Given the description of an element on the screen output the (x, y) to click on. 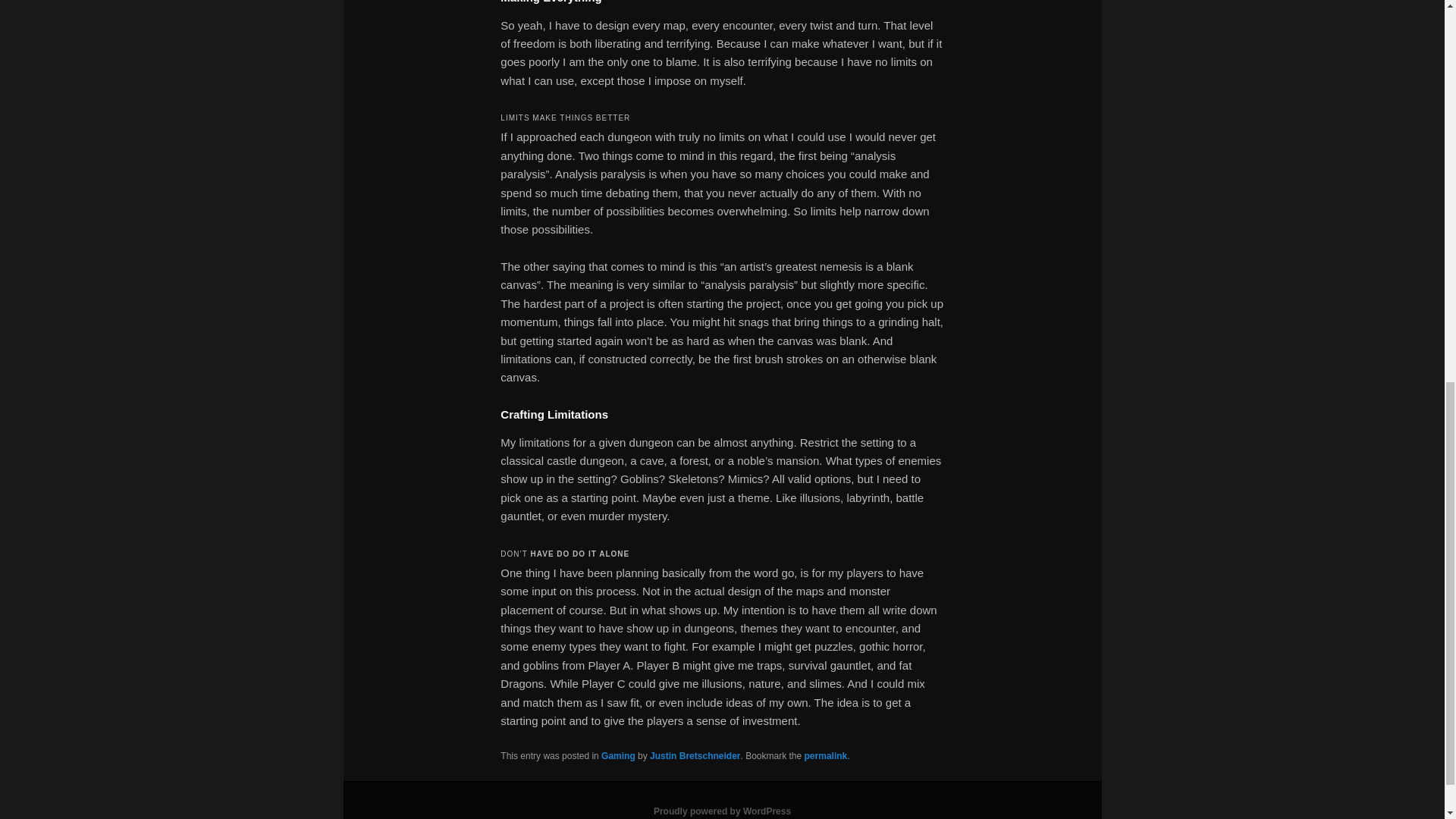
Justin Bretschneider (694, 756)
permalink (826, 756)
Semantic Personal Publishing Platform (721, 810)
Proudly powered by WordPress (721, 810)
Permalink to Creating Dungeons (826, 756)
Gaming (617, 756)
